Given the description of an element on the screen output the (x, y) to click on. 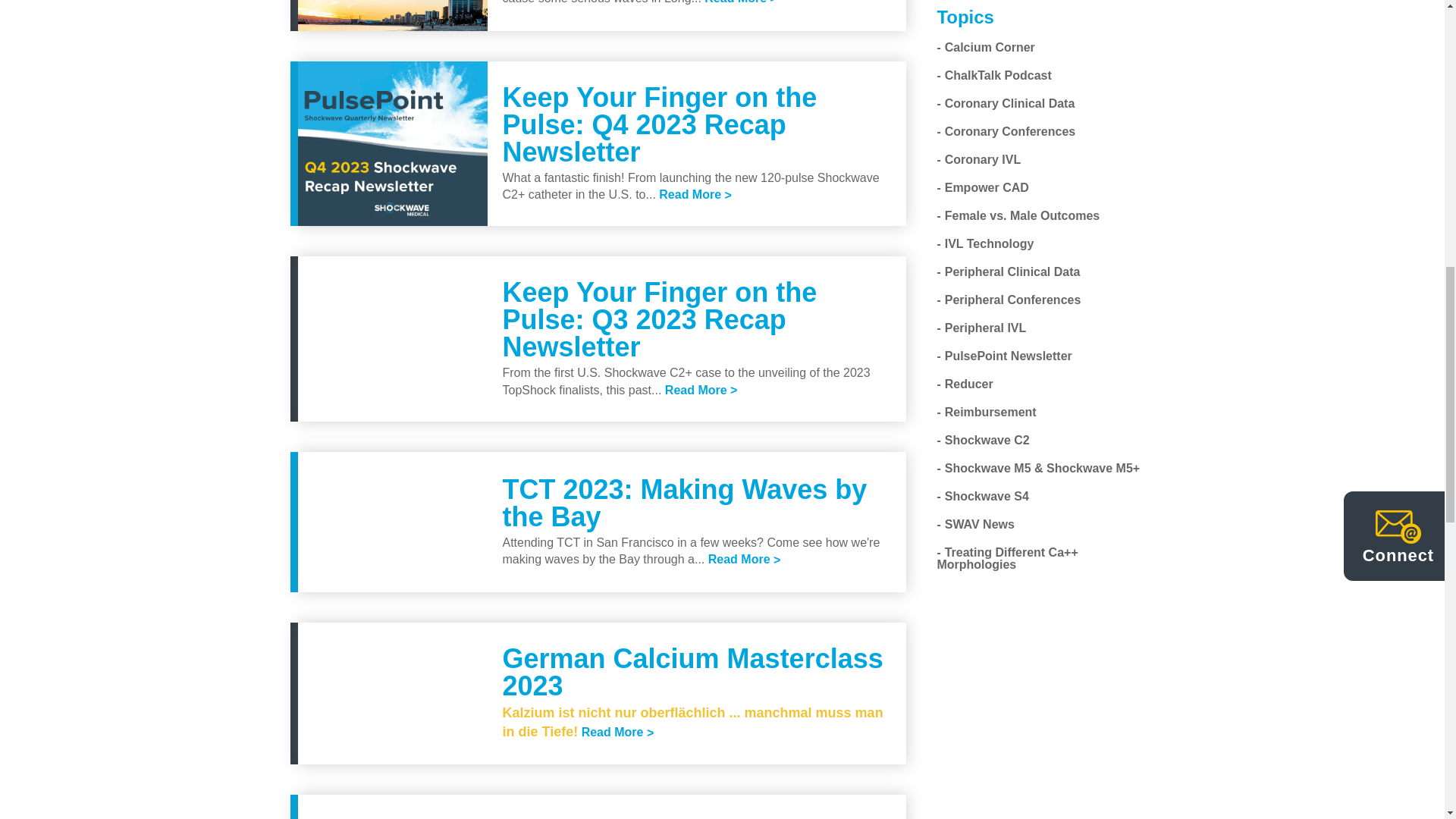
Reimbursement (985, 412)
Shockwave S4 (982, 496)
Calcium Corner (984, 47)
Peripheral IVL (981, 328)
Coronary Conferences (1005, 132)
Shockwave C2 (982, 440)
IVL Technology (984, 244)
Coronary IVL (978, 160)
Coronary Clinical Data (1005, 103)
SWAV News (975, 524)
Reducer (964, 384)
Empower CAD (981, 187)
